Given the description of an element on the screen output the (x, y) to click on. 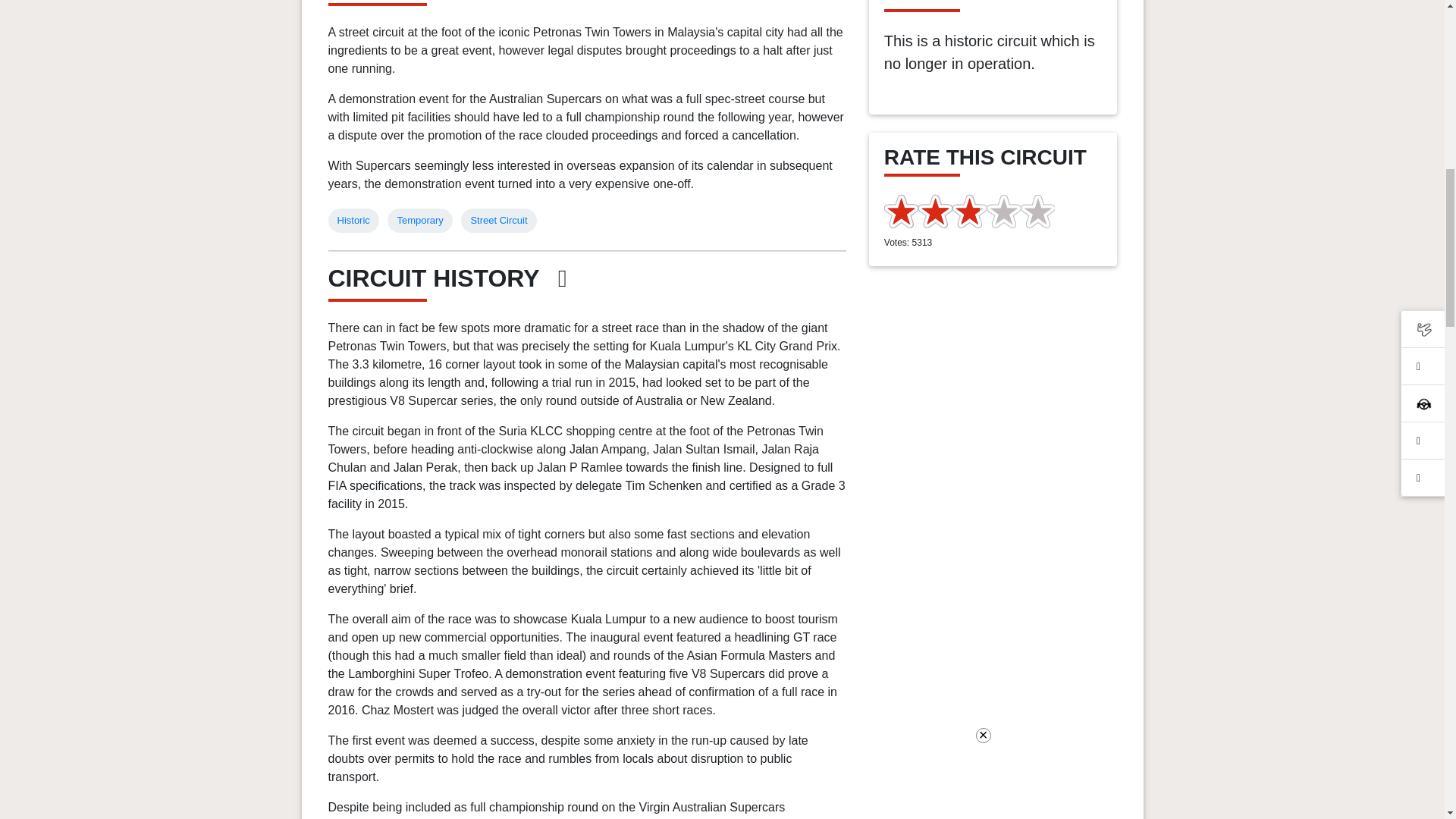
Historic (352, 220)
3 (935, 211)
Temporary (419, 220)
2 (917, 211)
5 (968, 211)
1 (900, 211)
4 (951, 211)
Street Circuit (498, 220)
